Given the description of an element on the screen output the (x, y) to click on. 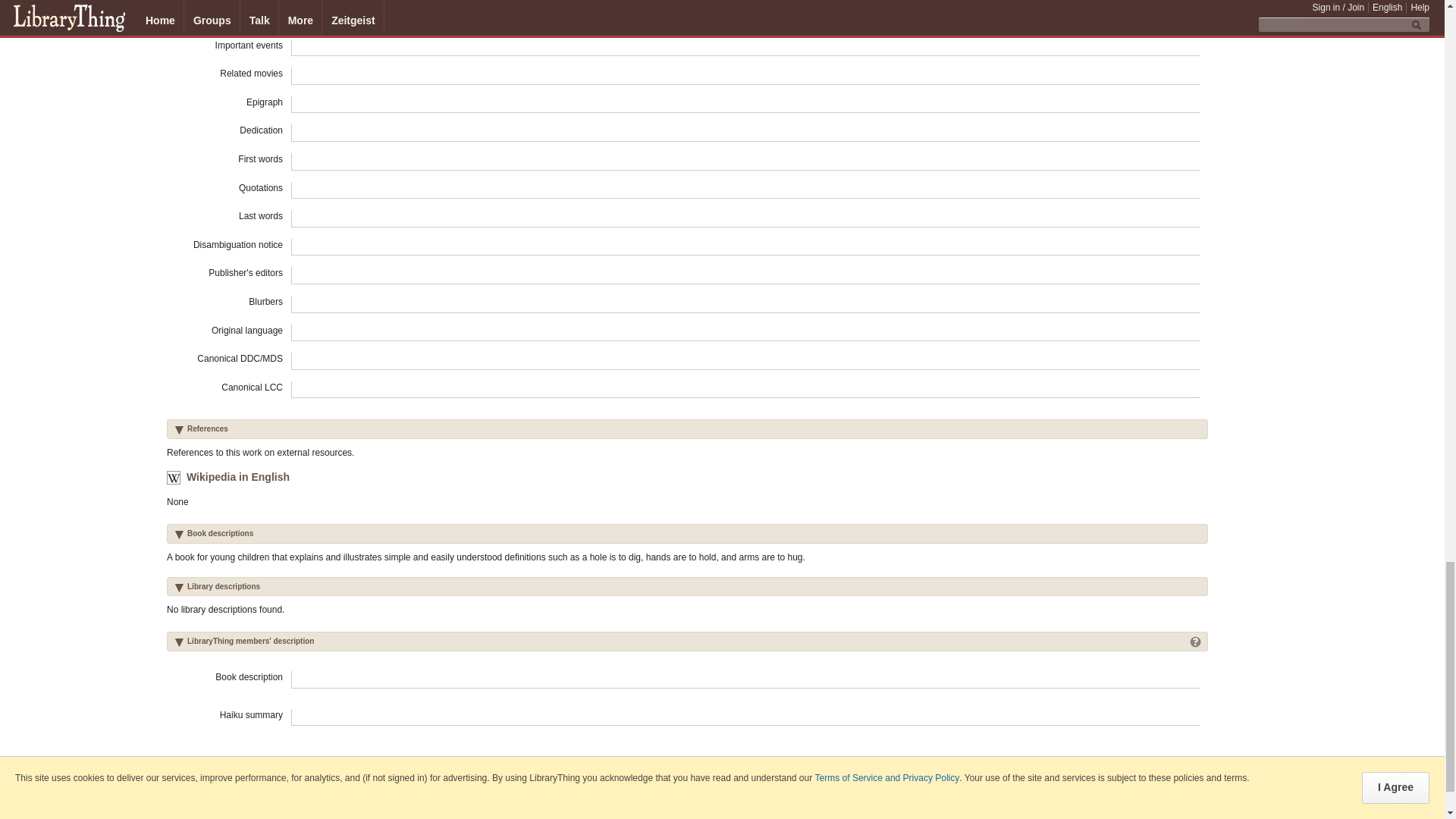
Help (1195, 640)
